Given the description of an element on the screen output the (x, y) to click on. 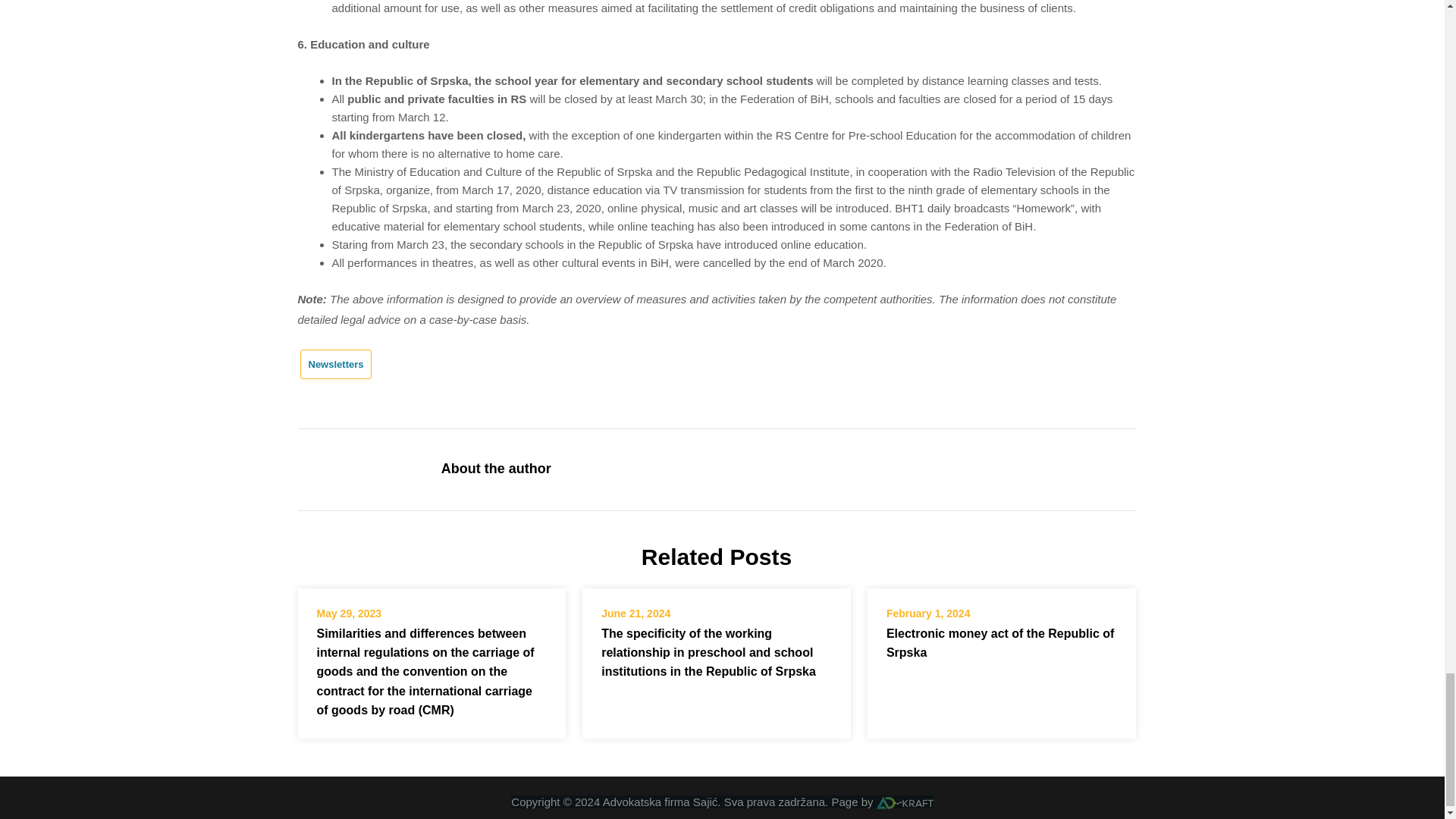
Newsletters (335, 363)
Electronic money act of the Republic of Srpska (1000, 643)
